Given the description of an element on the screen output the (x, y) to click on. 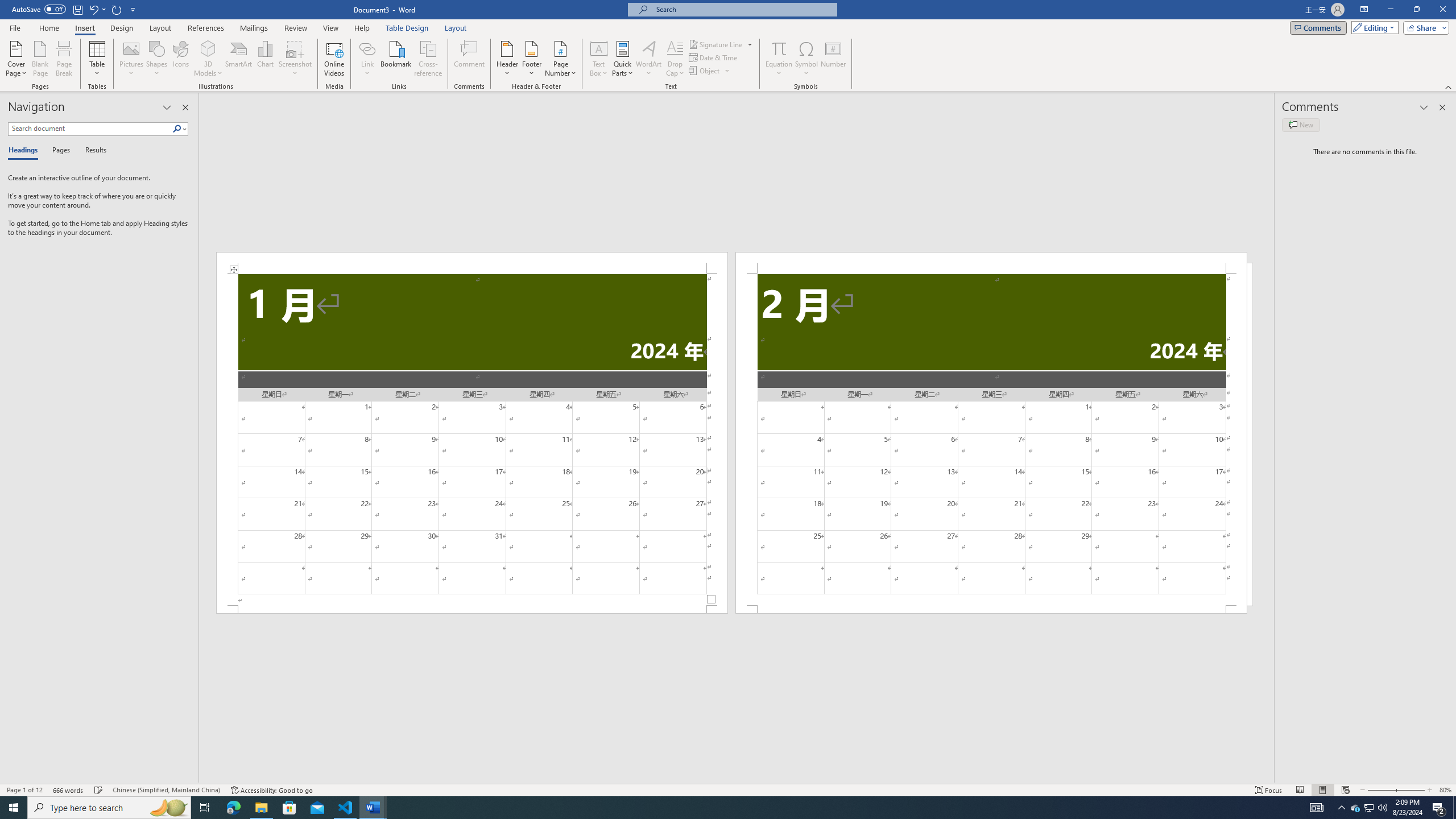
Cover Page (16, 58)
Header -Section 1- (471, 263)
Page 1 content (471, 439)
Page 2 content (991, 439)
New comment (1300, 124)
Symbol (806, 58)
Class: NetUIScrollBar (736, 778)
Header -Section 2- (991, 263)
Header (507, 58)
Mailings (253, 28)
Close (1442, 9)
Blank Page (40, 58)
Cross-reference... (428, 58)
Comment (469, 58)
Minimize (1390, 9)
